Given the description of an element on the screen output the (x, y) to click on. 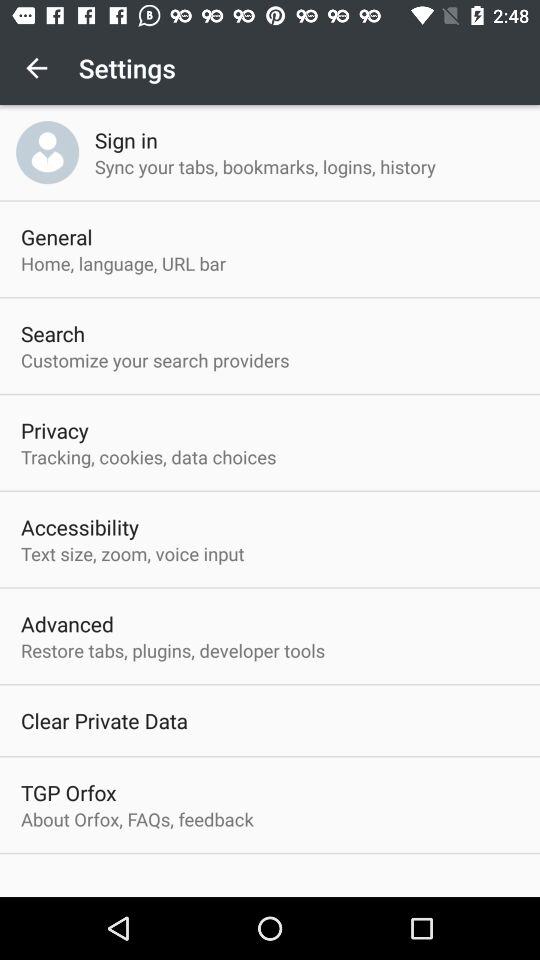
press icon above the sync your tabs (125, 139)
